Given the description of an element on the screen output the (x, y) to click on. 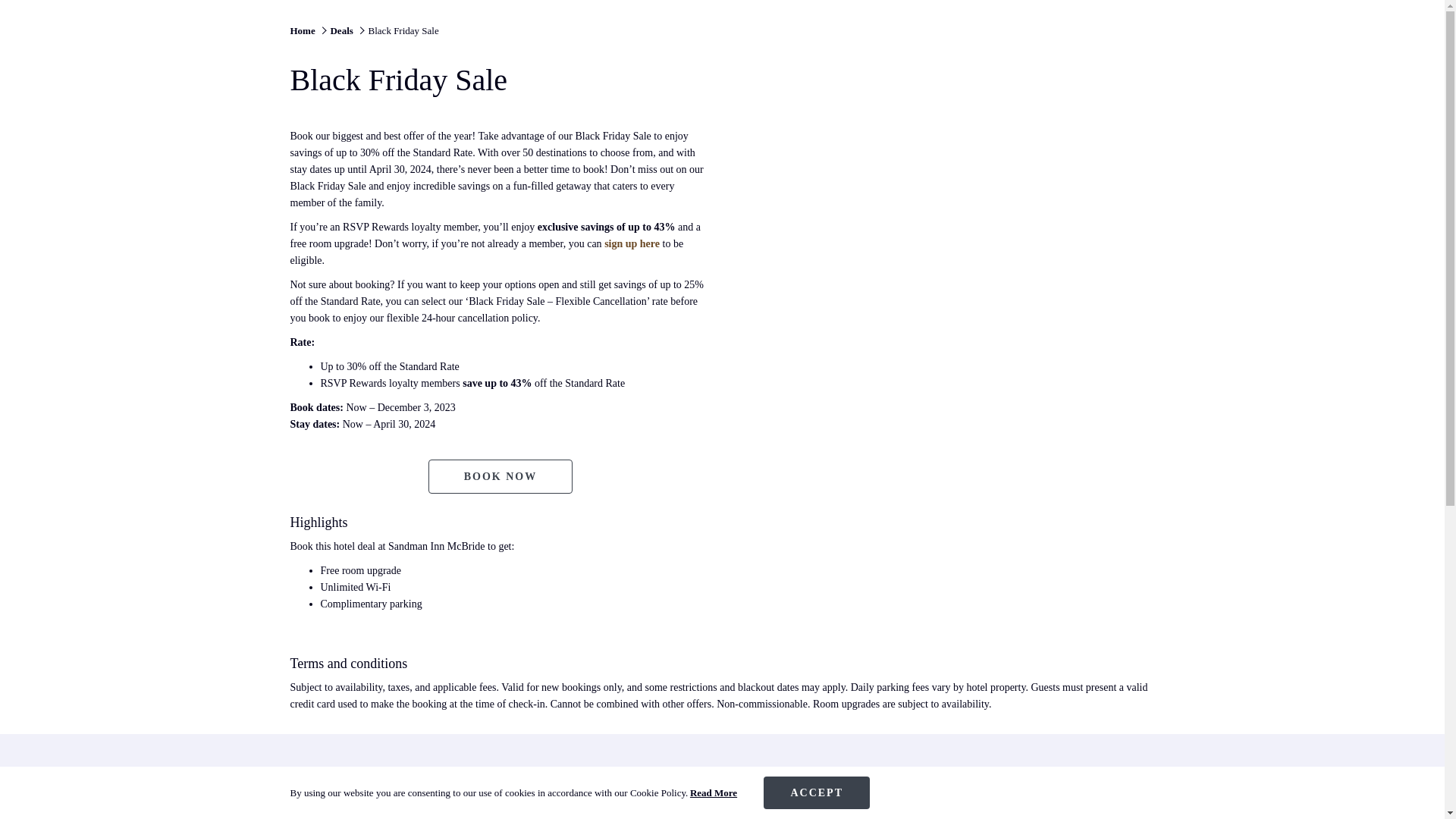
Home (301, 30)
ACCEPT (815, 792)
Black Friday Sale (403, 30)
sign up here (631, 243)
Read More (712, 792)
Deals (500, 476)
